Given the description of an element on the screen output the (x, y) to click on. 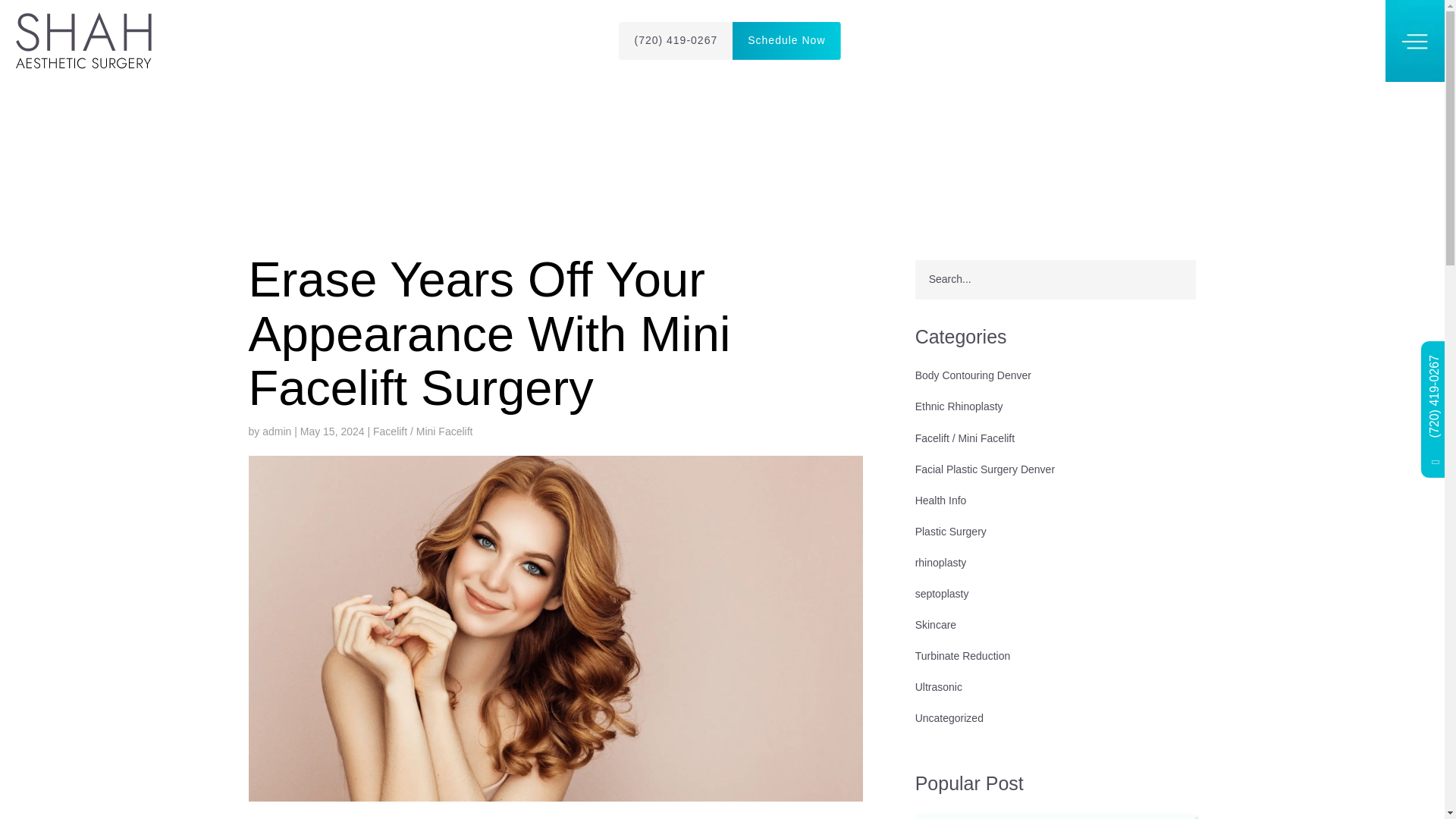
Search (1171, 279)
Shah Aesthetic Surgery Logo (84, 41)
Posts by admin (276, 430)
Search (1171, 279)
Schedule Now (786, 40)
